Given the description of an element on the screen output the (x, y) to click on. 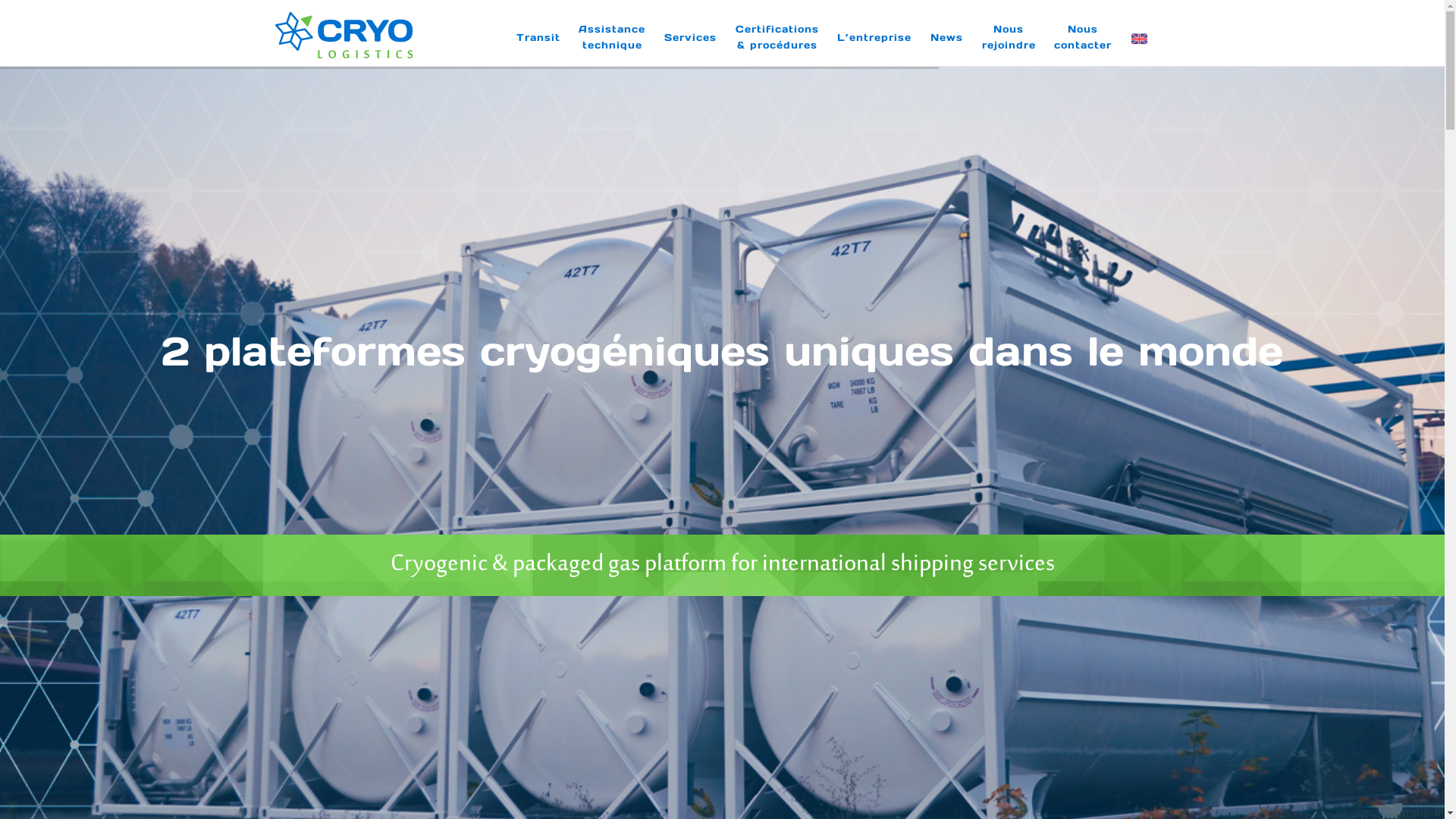
Nous
contacter Element type: text (1082, 36)
Services Element type: text (690, 36)
en Element type: text (1138, 38)
Nous
rejoindre Element type: text (1008, 36)
News Element type: text (946, 36)
Transit Element type: text (538, 36)
Assistance
technique Element type: text (611, 36)
